Given the description of an element on the screen output the (x, y) to click on. 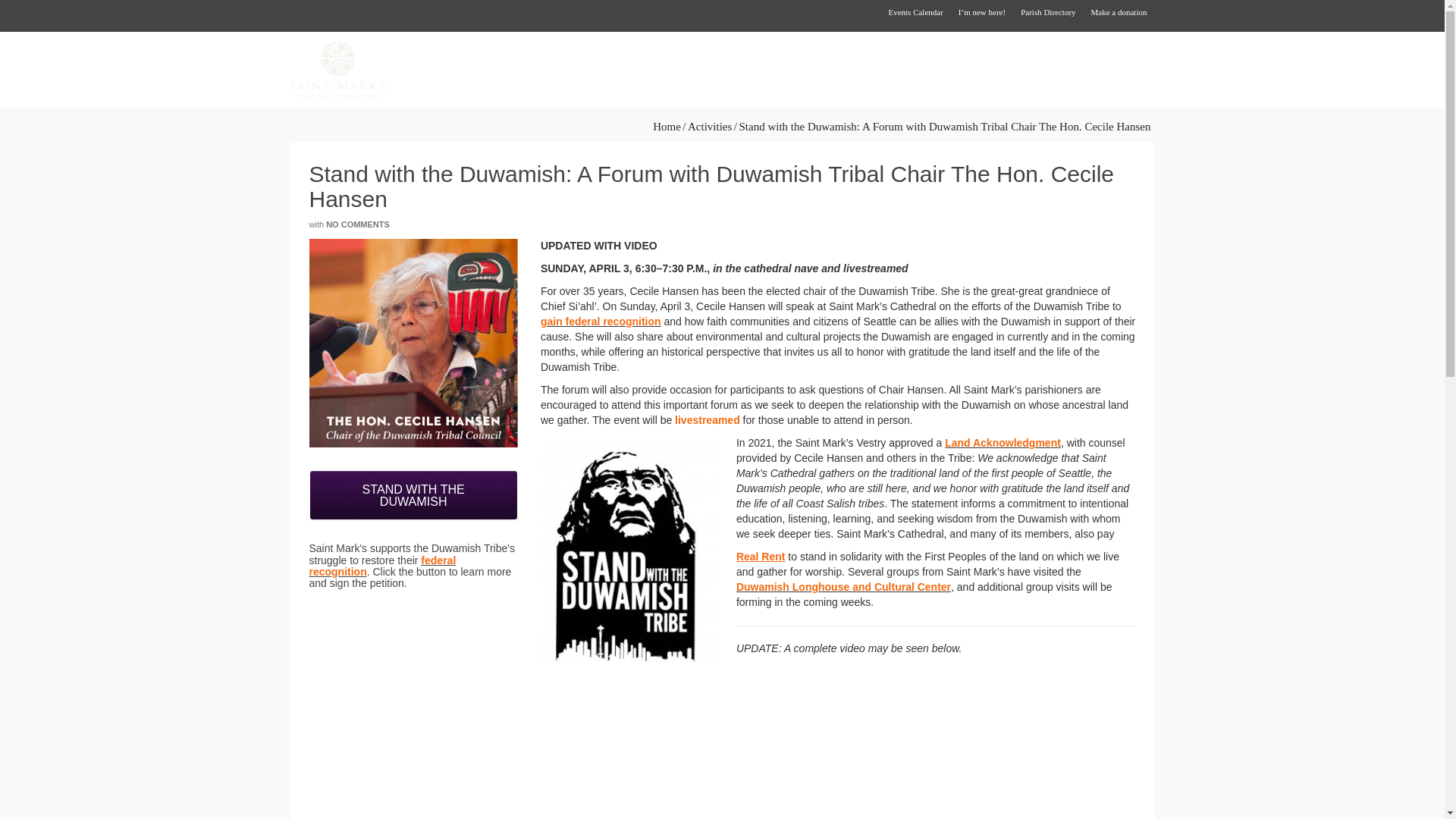
ABOUT (567, 69)
Events Calendar (915, 11)
Parish Directory (1048, 11)
The Hon Cecile Hansen (413, 343)
Make a donation (1118, 11)
